Given the description of an element on the screen output the (x, y) to click on. 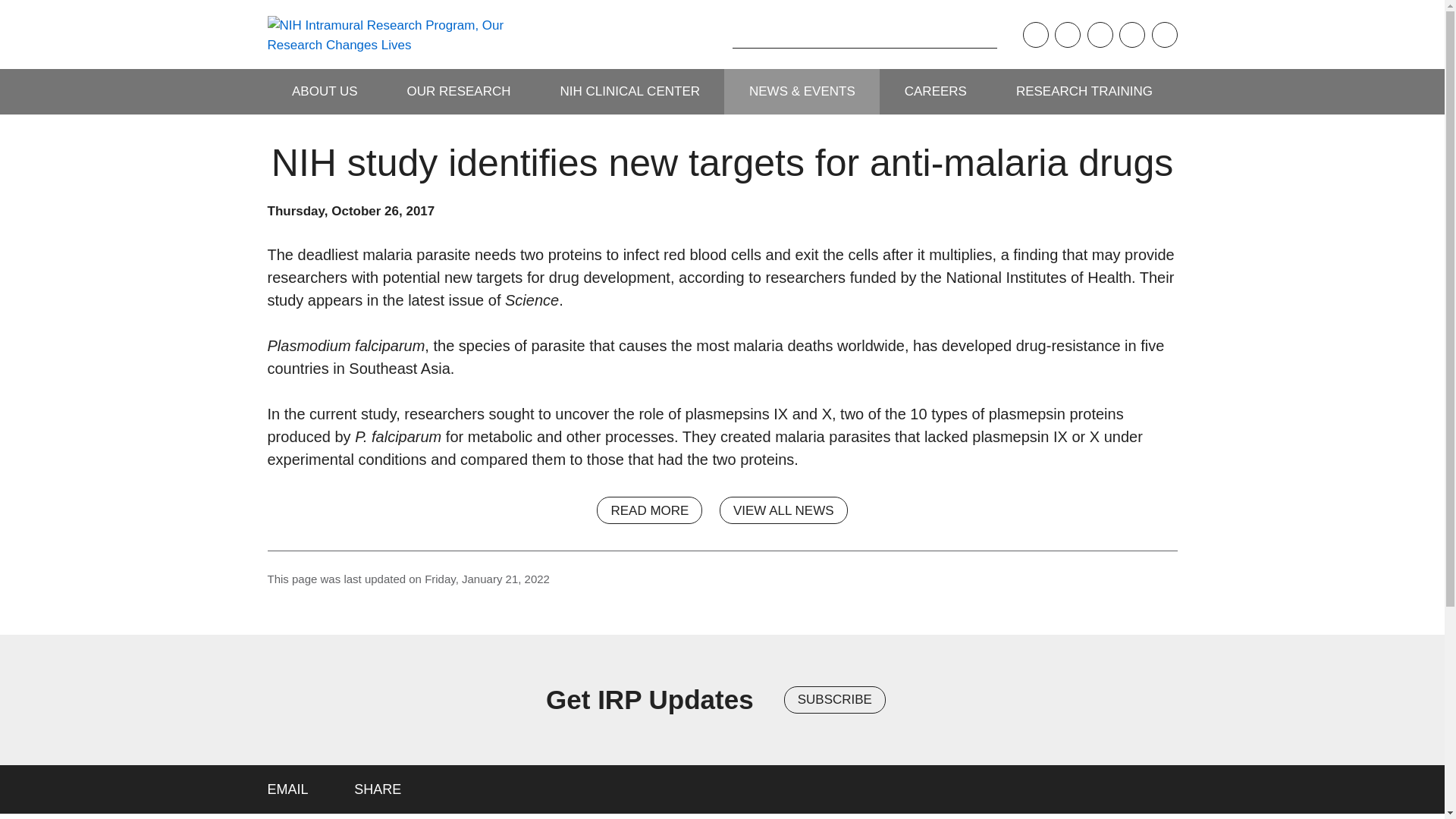
Podcast (1035, 34)
LinkedIn (1163, 34)
ABOUT US (323, 91)
SEARCH (707, 34)
Instagram (1067, 34)
Skip to main content (11, 11)
YouTube (1131, 34)
Twitter (1100, 34)
